Given the description of an element on the screen output the (x, y) to click on. 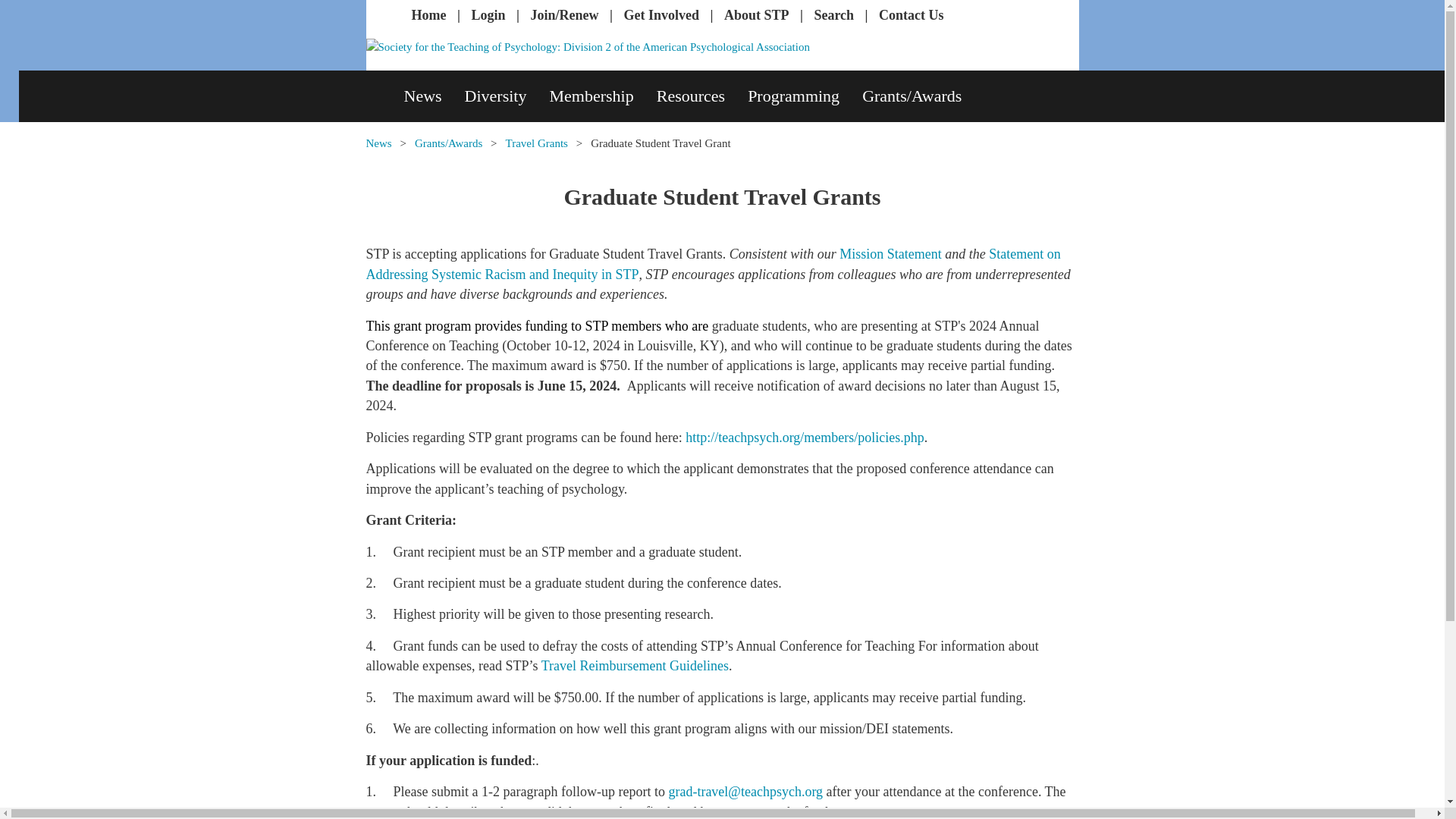
Membership (602, 96)
Login (487, 15)
Home (427, 15)
Login (487, 15)
Contact Us (911, 15)
Search (833, 15)
Search (833, 15)
Diversity (507, 96)
About STP (756, 15)
Contact Us (911, 15)
Get Involved (660, 15)
News (433, 96)
Resources (702, 96)
Diversity (507, 96)
Home (427, 15)
